Given the description of an element on the screen output the (x, y) to click on. 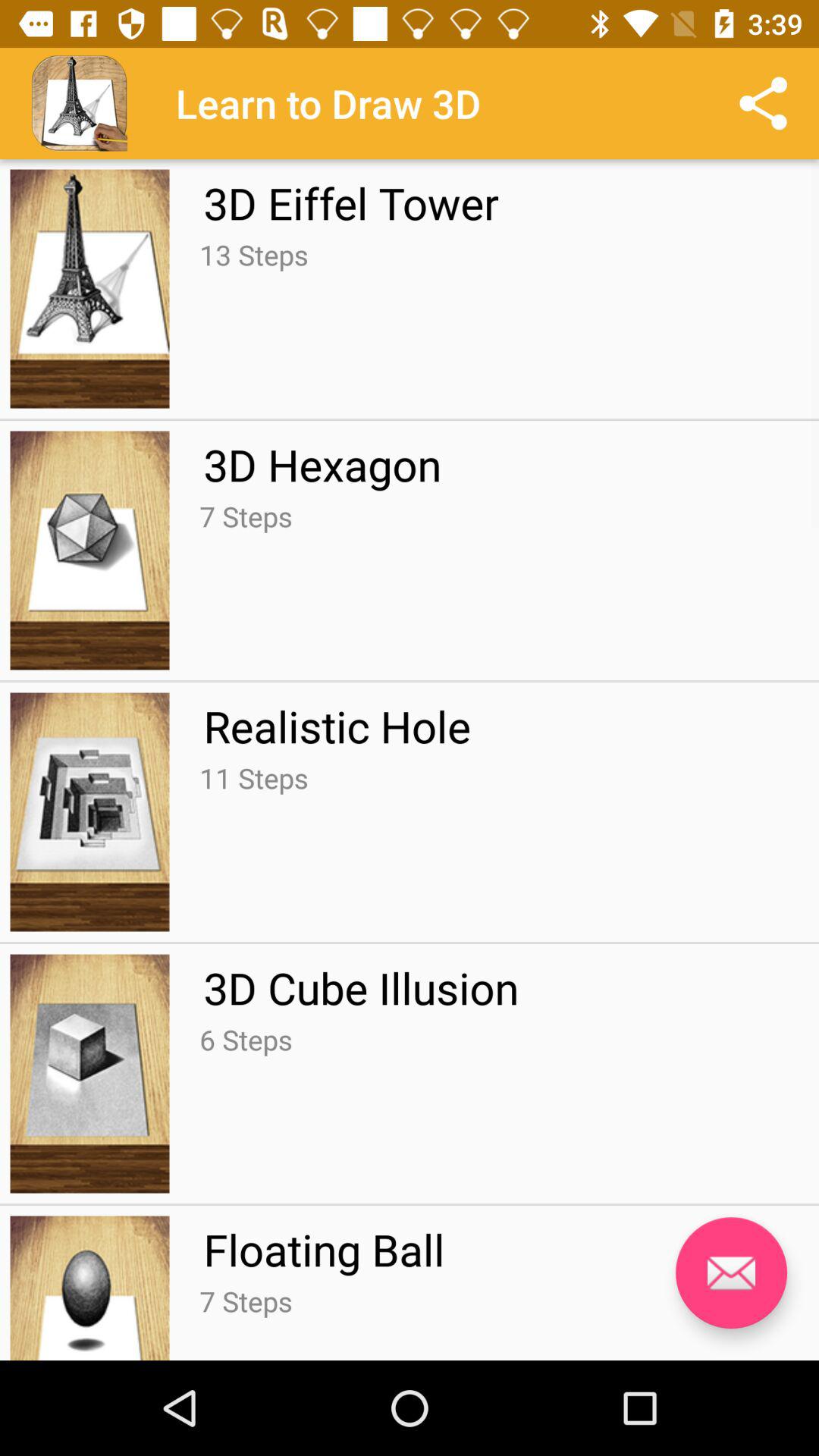
launch the icon below the 13 steps app (322, 464)
